Given the description of an element on the screen output the (x, y) to click on. 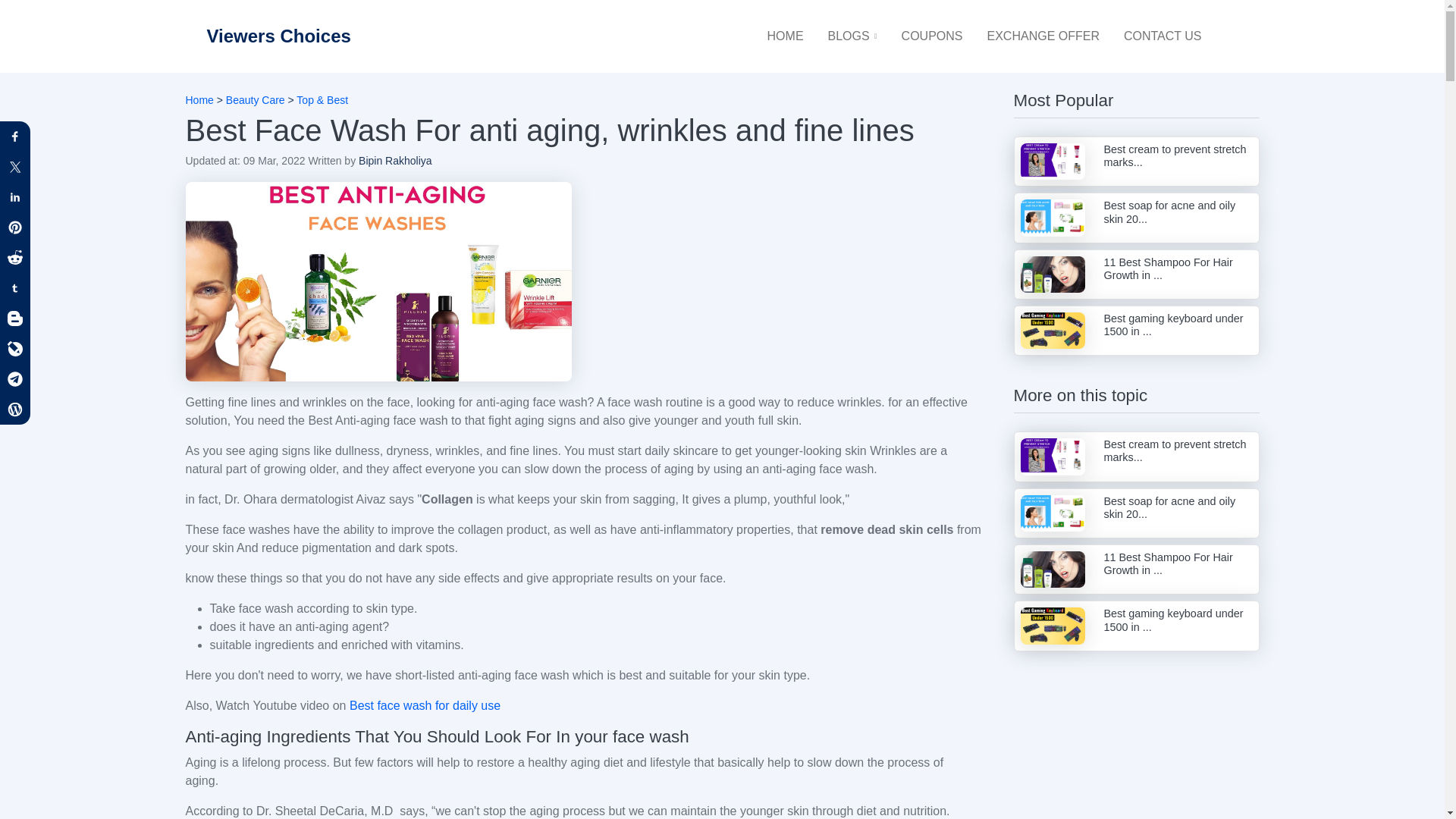
COUPONS (932, 36)
Best soap for acne and oily skin 20... (1136, 217)
Best cream to prevent stretch marks... (1136, 456)
11 Best Shampoo For Hair Growth in ... (1136, 274)
Beauty Care (255, 100)
Viewers Choices (278, 36)
Best gaming keyboard under 1500 in ... (1136, 625)
Best soap for acne and oily skin 20... (1136, 513)
CONTACT US (1163, 36)
11 Best Shampoo For Hair Growth in ... (1136, 569)
